Given the description of an element on the screen output the (x, y) to click on. 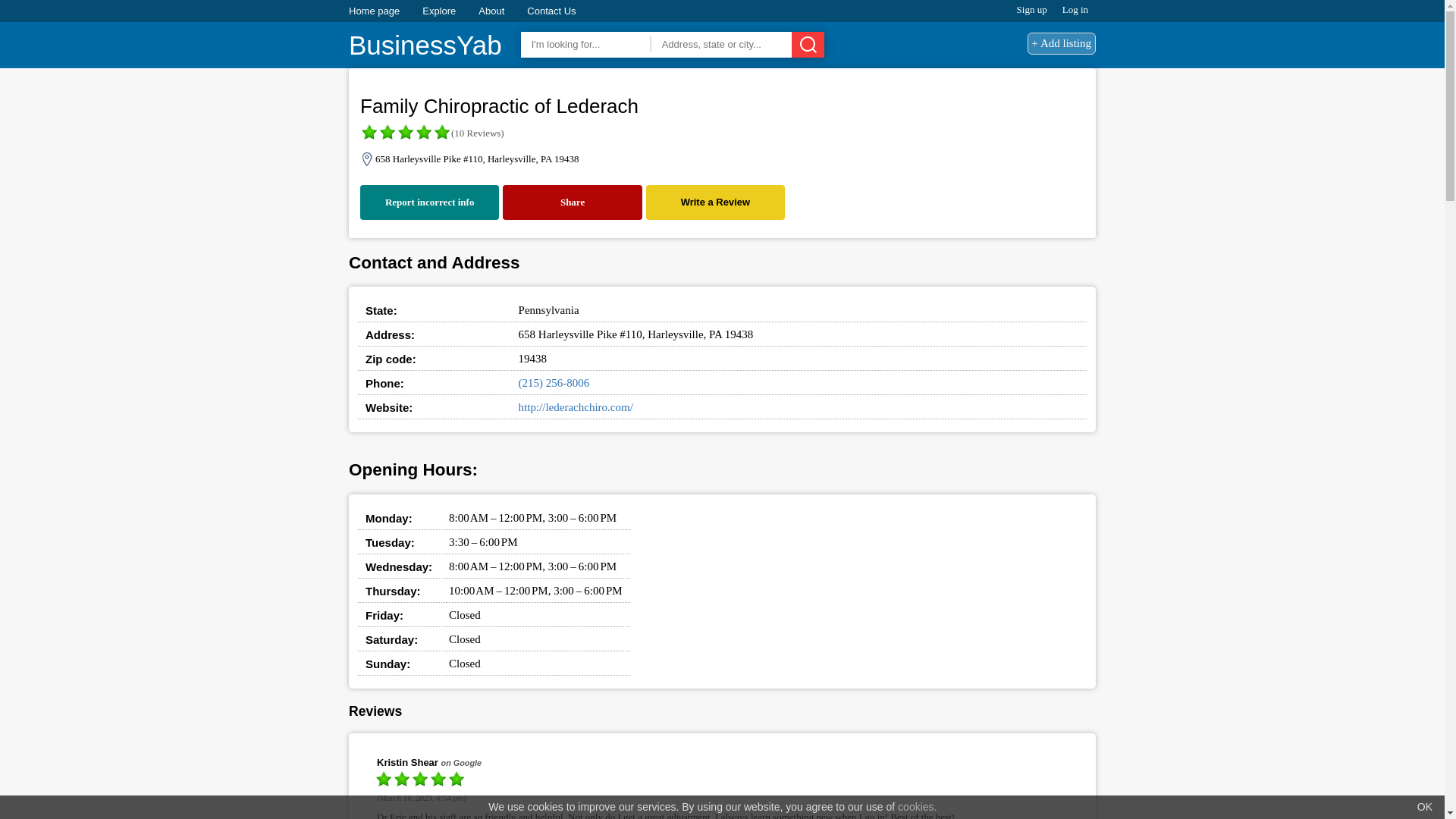
About (491, 10)
Contact Us (551, 10)
Report incorrect info (429, 202)
Home page (373, 10)
Explore (438, 10)
BusinessYab (425, 46)
